Given the description of an element on the screen output the (x, y) to click on. 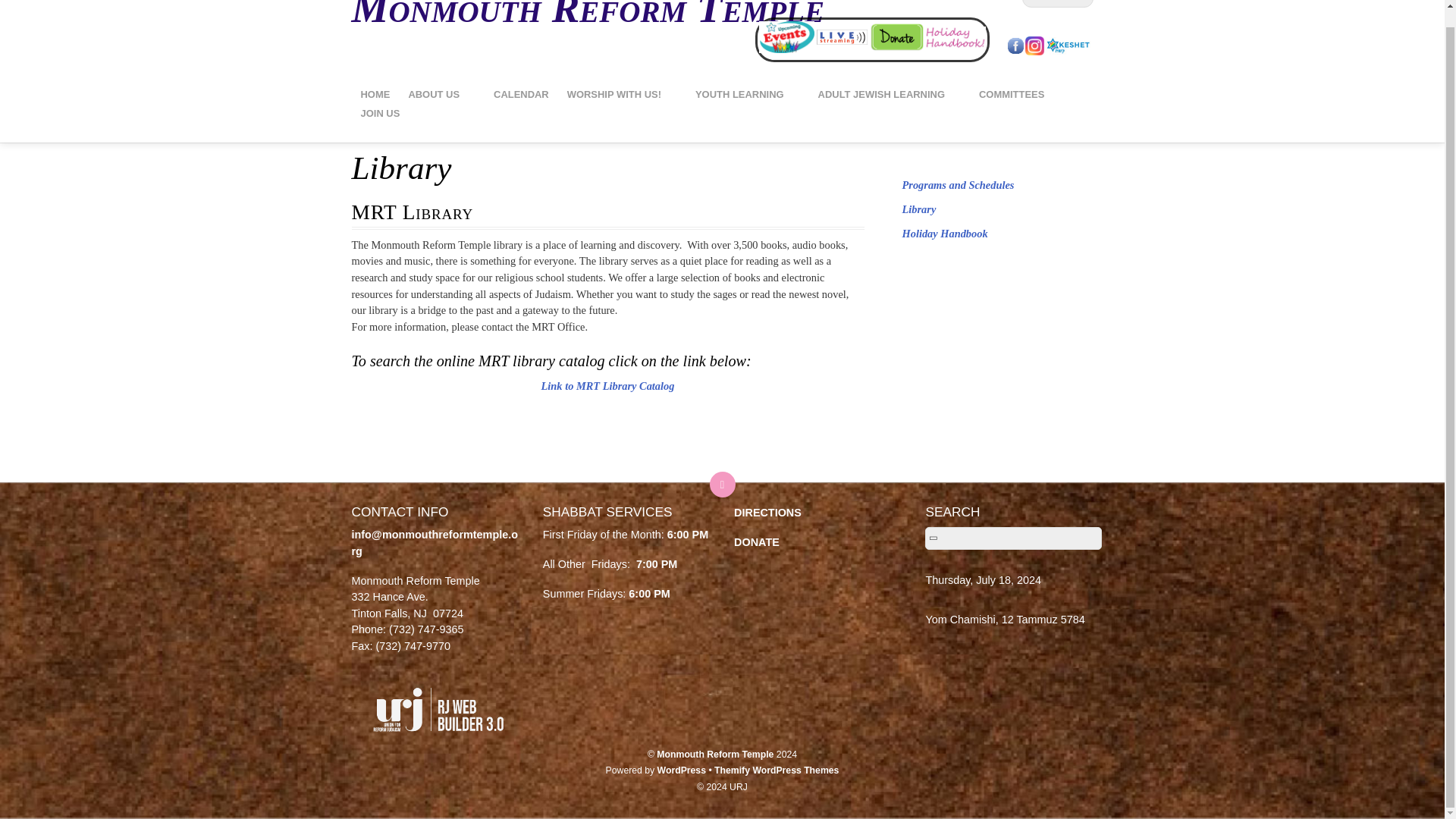
ADULT JEWISH LEARNING (889, 94)
Search (1012, 538)
Monmouth Reform Temple (588, 15)
HOME (375, 94)
WORSHIP WITH US! (621, 94)
YOUTH LEARNING (747, 94)
ABOUT US (441, 94)
Monmouth Reform Temple (588, 15)
CALENDAR (520, 94)
COMMITTEES (1018, 94)
Search (1057, 3)
